Given the description of an element on the screen output the (x, y) to click on. 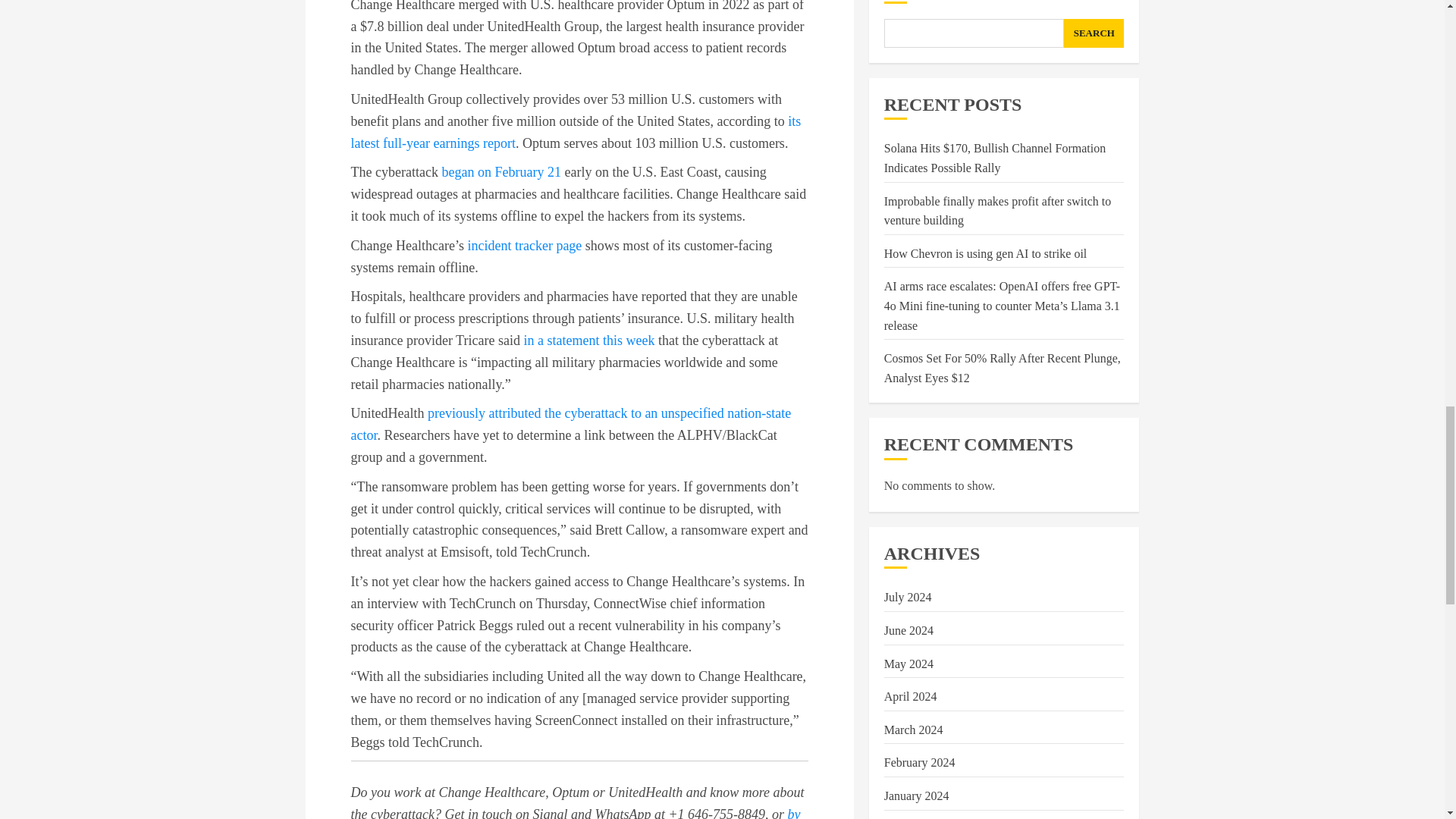
in a statement this week (587, 340)
began on February 21 (500, 171)
by email (574, 812)
its latest full-year earnings report (575, 131)
incident tracker page (523, 245)
